Given the description of an element on the screen output the (x, y) to click on. 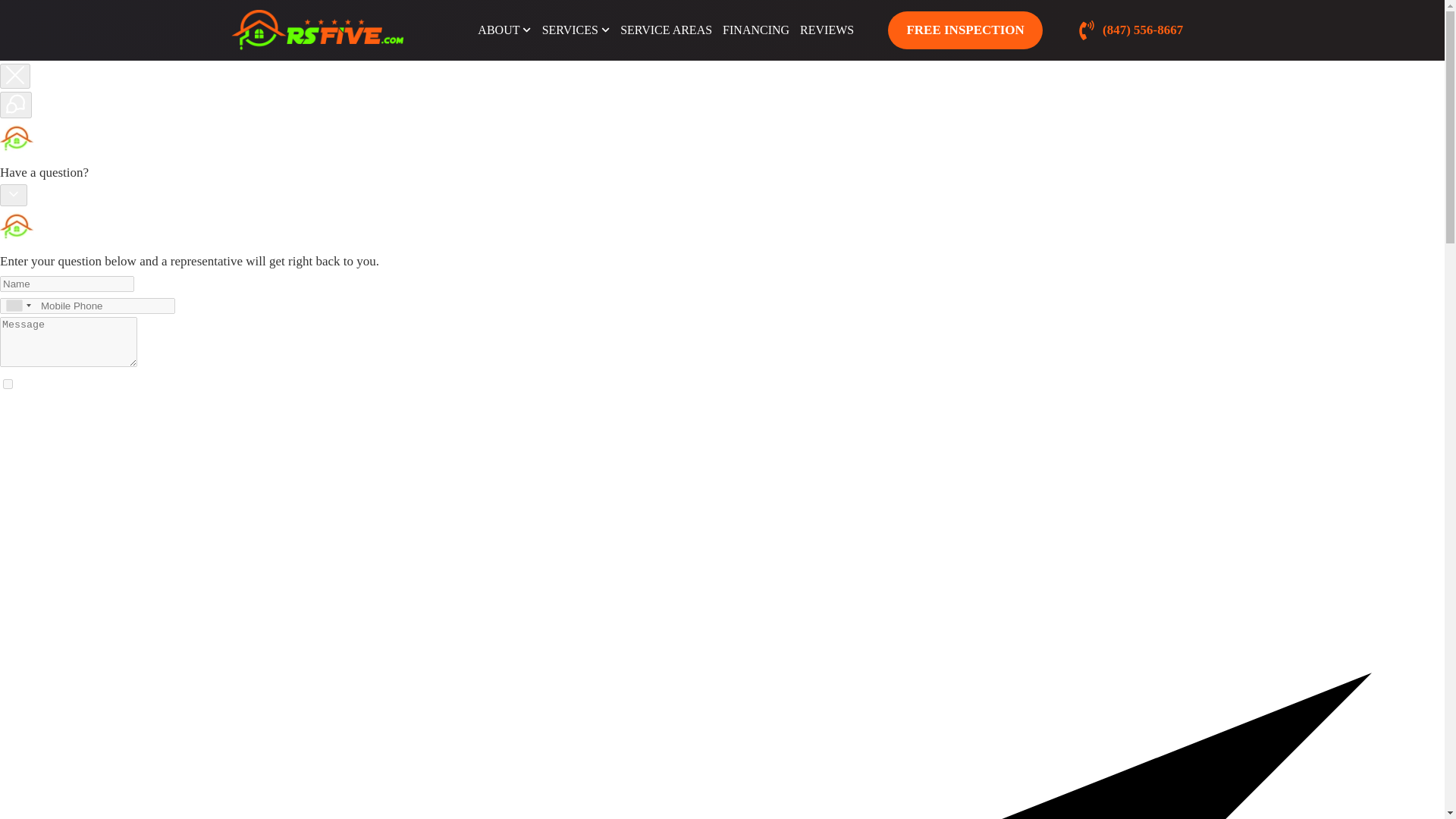
SERVICE AREAS (665, 30)
ABOUT (503, 30)
FINANCING (755, 30)
SERVICES (575, 30)
REVIEWS (826, 30)
